Given the description of an element on the screen output the (x, y) to click on. 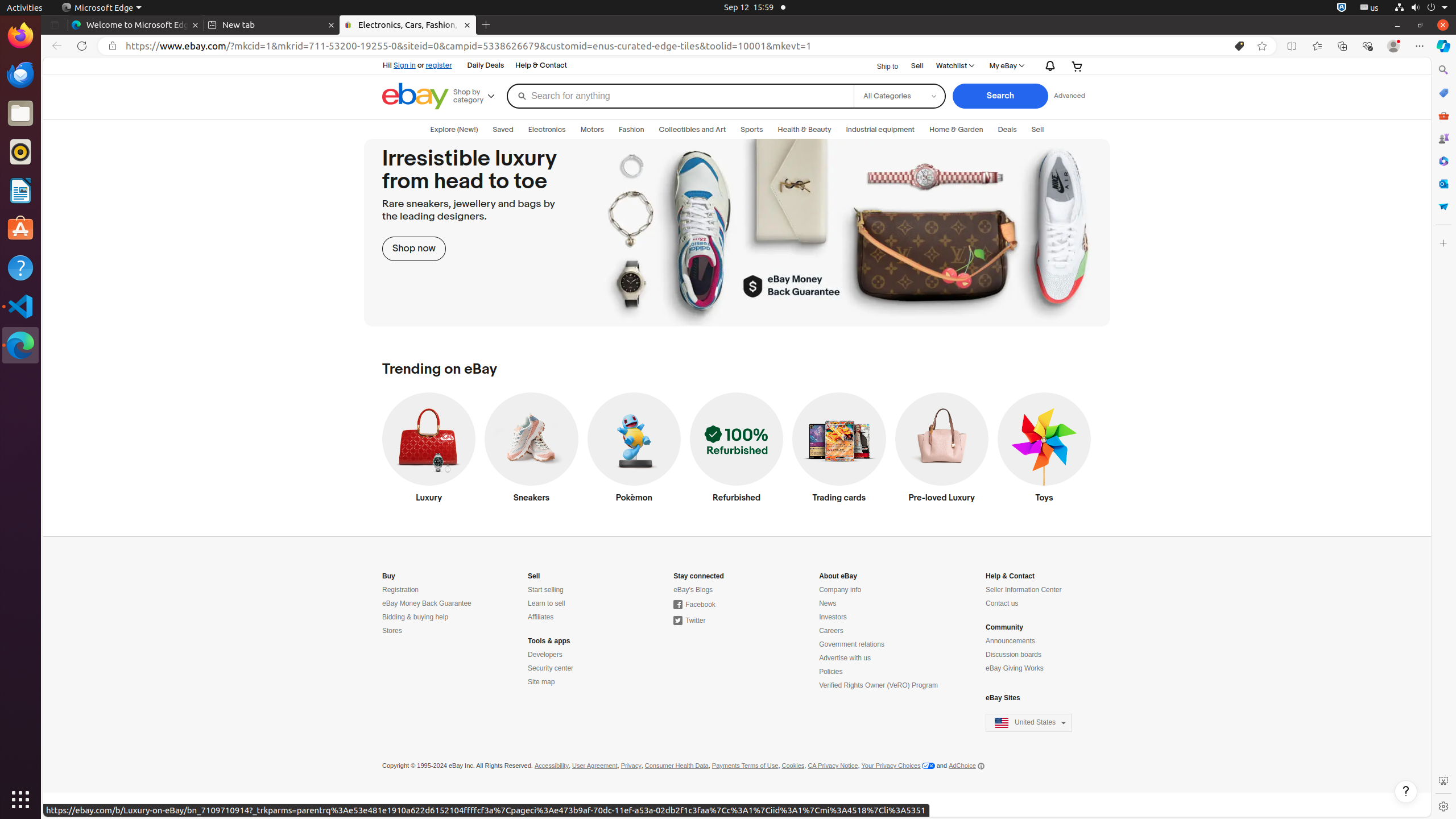
Visual Studio Code Element type: push-button (20, 306)
CA Privacy Notice Element type: link (832, 765)
Announcements Element type: link (1010, 640)
Sneakers Element type: link (531, 450)
Site map Element type: link (541, 681)
